Given the description of an element on the screen output the (x, y) to click on. 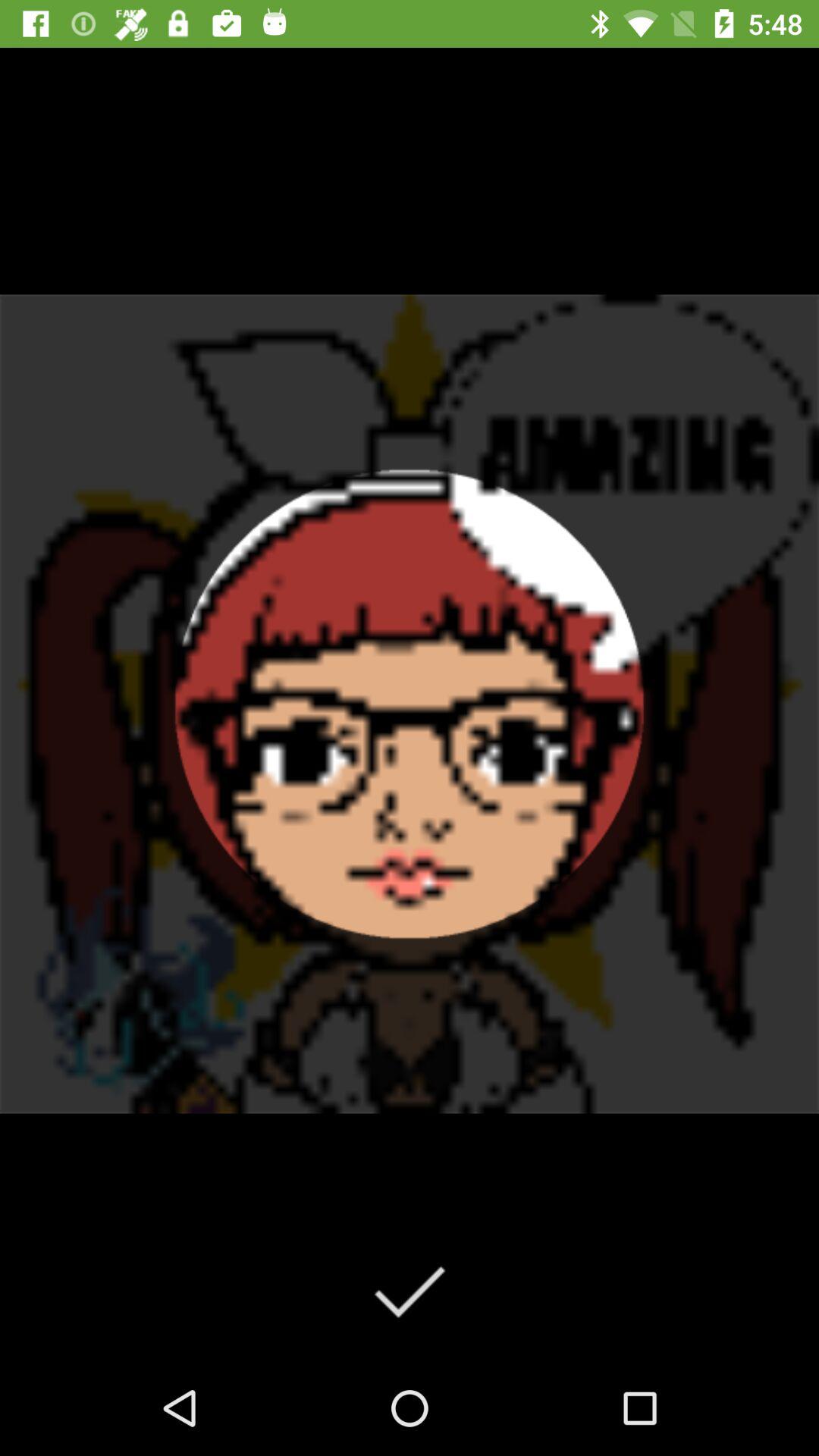
confirm selection (408, 1290)
